Given the description of an element on the screen output the (x, y) to click on. 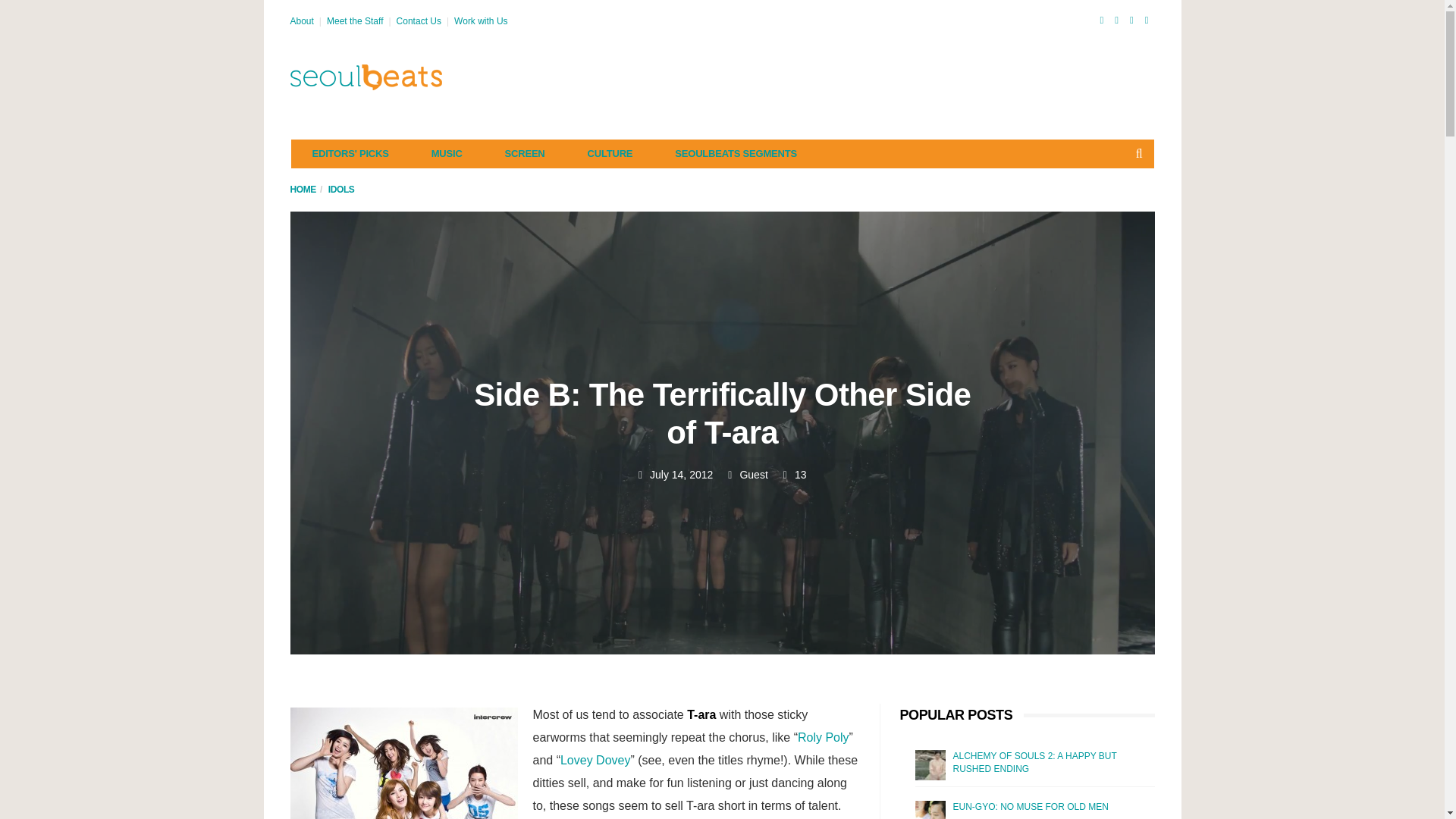
About (301, 20)
Work with Us (480, 20)
EDITORS' PICKS (350, 153)
Instagram (1146, 19)
Contact Us (418, 20)
MUSIC (446, 153)
Advertisement (878, 77)
Meet the Staff (355, 20)
Facebook (1101, 19)
Youtube (1131, 19)
